Given the description of an element on the screen output the (x, y) to click on. 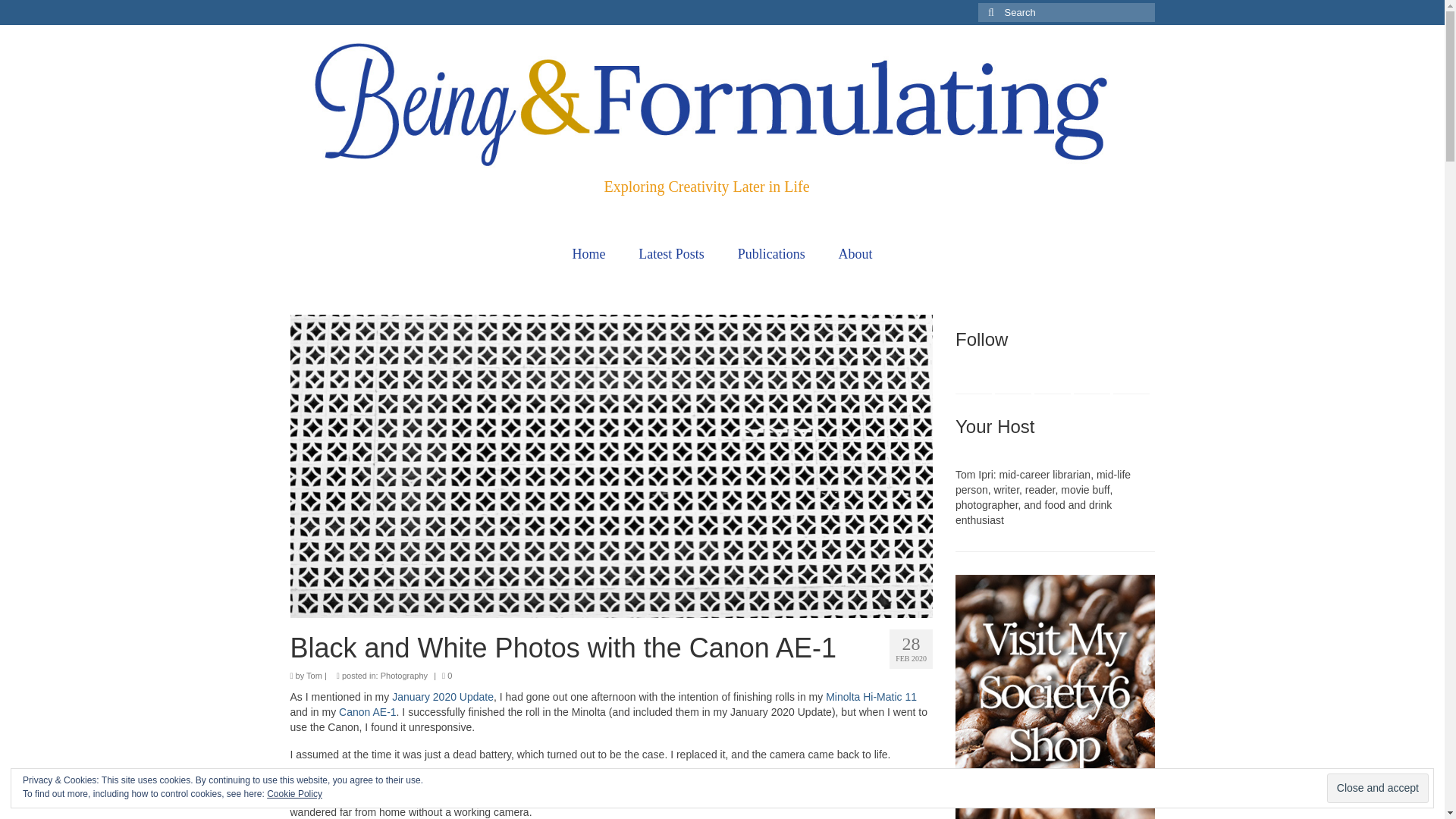
Latest Posts (671, 253)
Publications (771, 253)
Close and accept (1377, 788)
About (856, 253)
Photography (404, 675)
Canon AE-1 (367, 711)
January 2020 Update (442, 696)
Minolta Hi-Matic 11 (871, 696)
Home (588, 253)
Tom (313, 675)
